Given the description of an element on the screen output the (x, y) to click on. 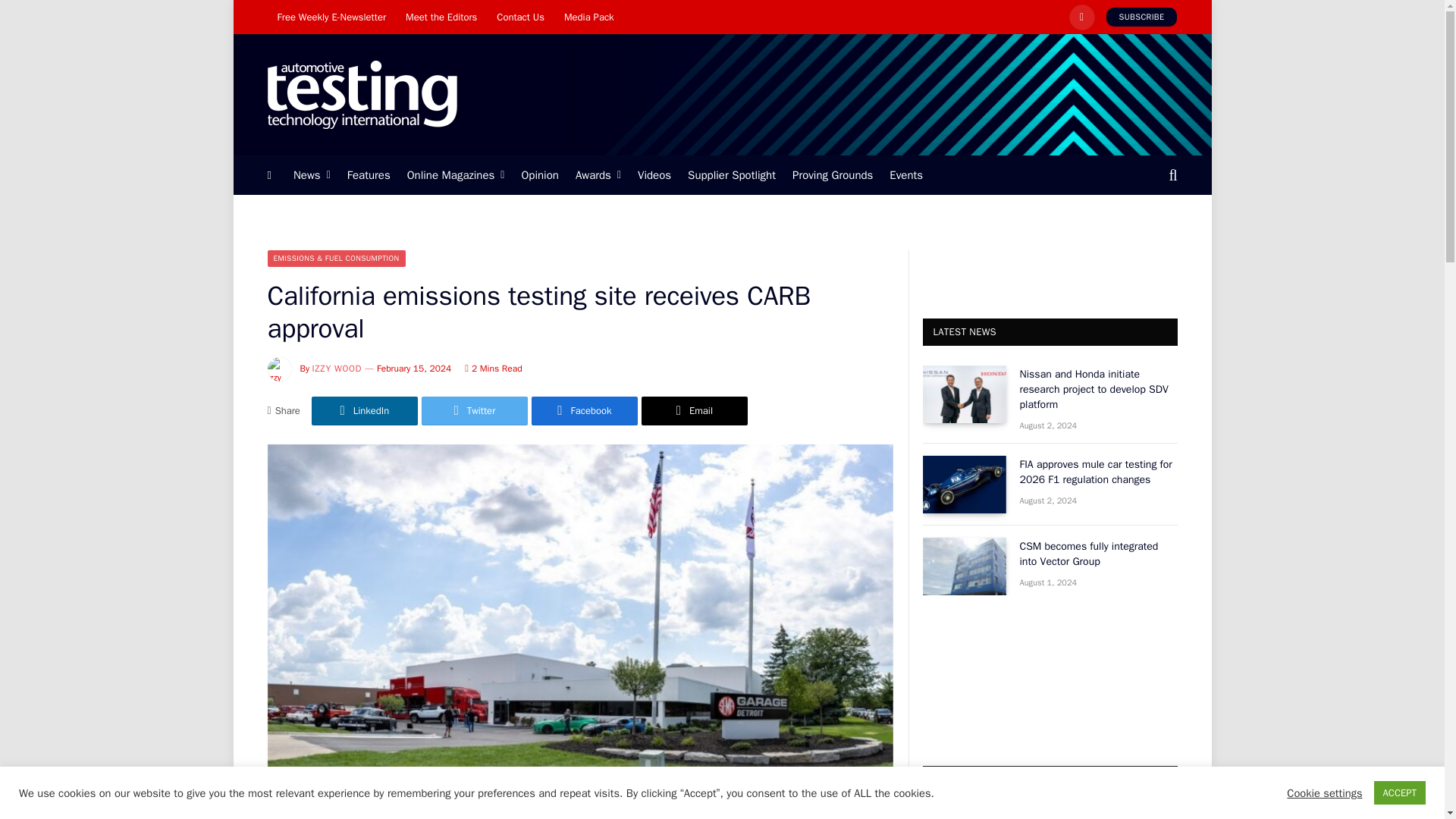
Share via Email (695, 410)
Posts by Izzy Wood (337, 368)
Automotive Testing Technology International (361, 94)
Share on LinkedIn (364, 410)
Share on Facebook (584, 410)
